Given the description of an element on the screen output the (x, y) to click on. 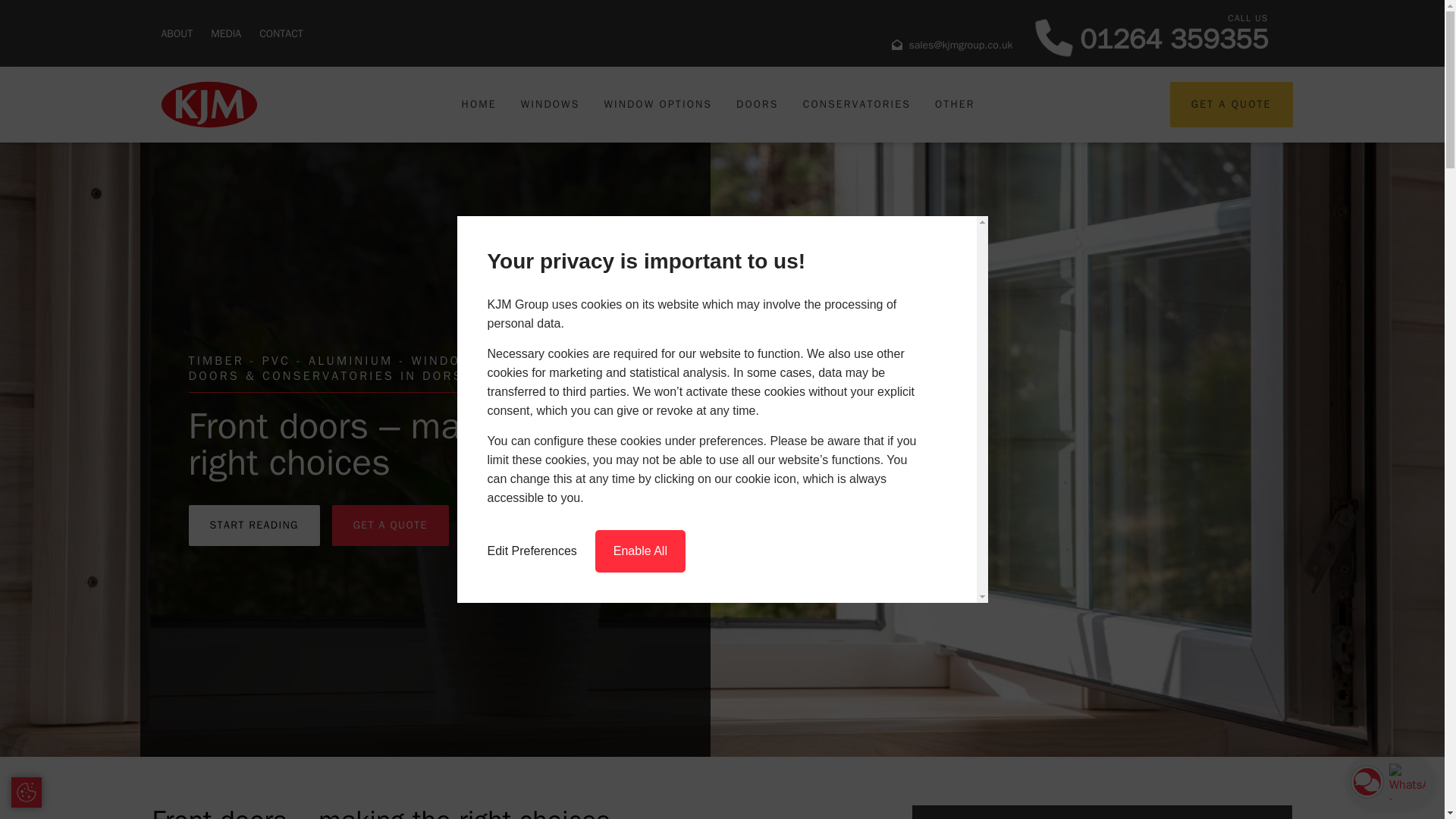
Edit Preferences (531, 551)
MEDIA (718, 104)
01264 359355 (226, 33)
ABOUT (1174, 44)
Enable All (176, 33)
CONTACT (640, 550)
WINDOWS (281, 33)
START READING (550, 104)
WINDOW OPTIONS (252, 525)
